Given the description of an element on the screen output the (x, y) to click on. 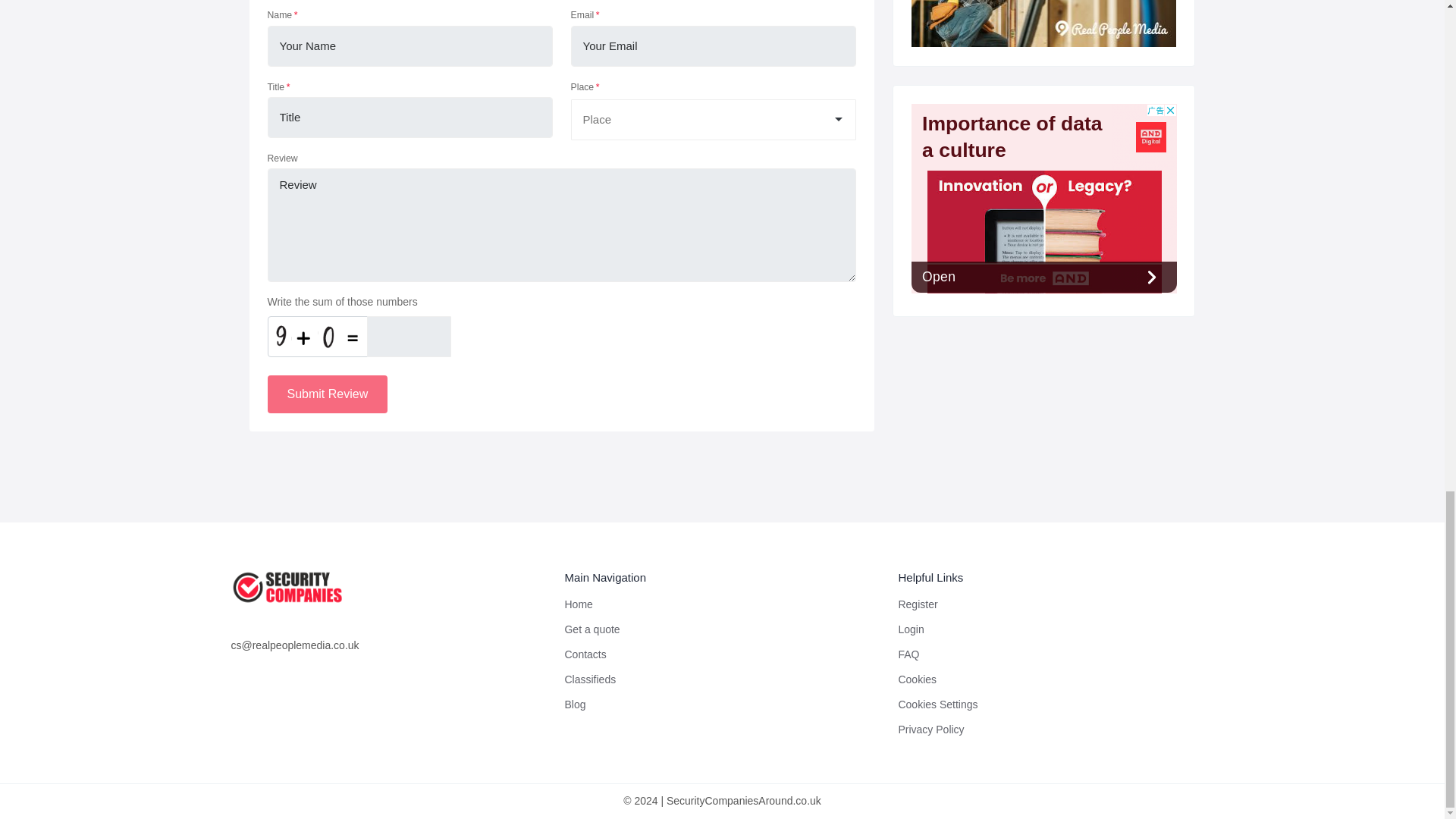
Advertisement (1043, 198)
Contacts (584, 654)
Privacy Policy (930, 729)
Get a quote (592, 629)
Classifieds (589, 679)
Submit Review (326, 394)
Cookies Settings (937, 704)
UK Business Directory (1043, 23)
Cookies (917, 679)
Home (578, 604)
